Given the description of an element on the screen output the (x, y) to click on. 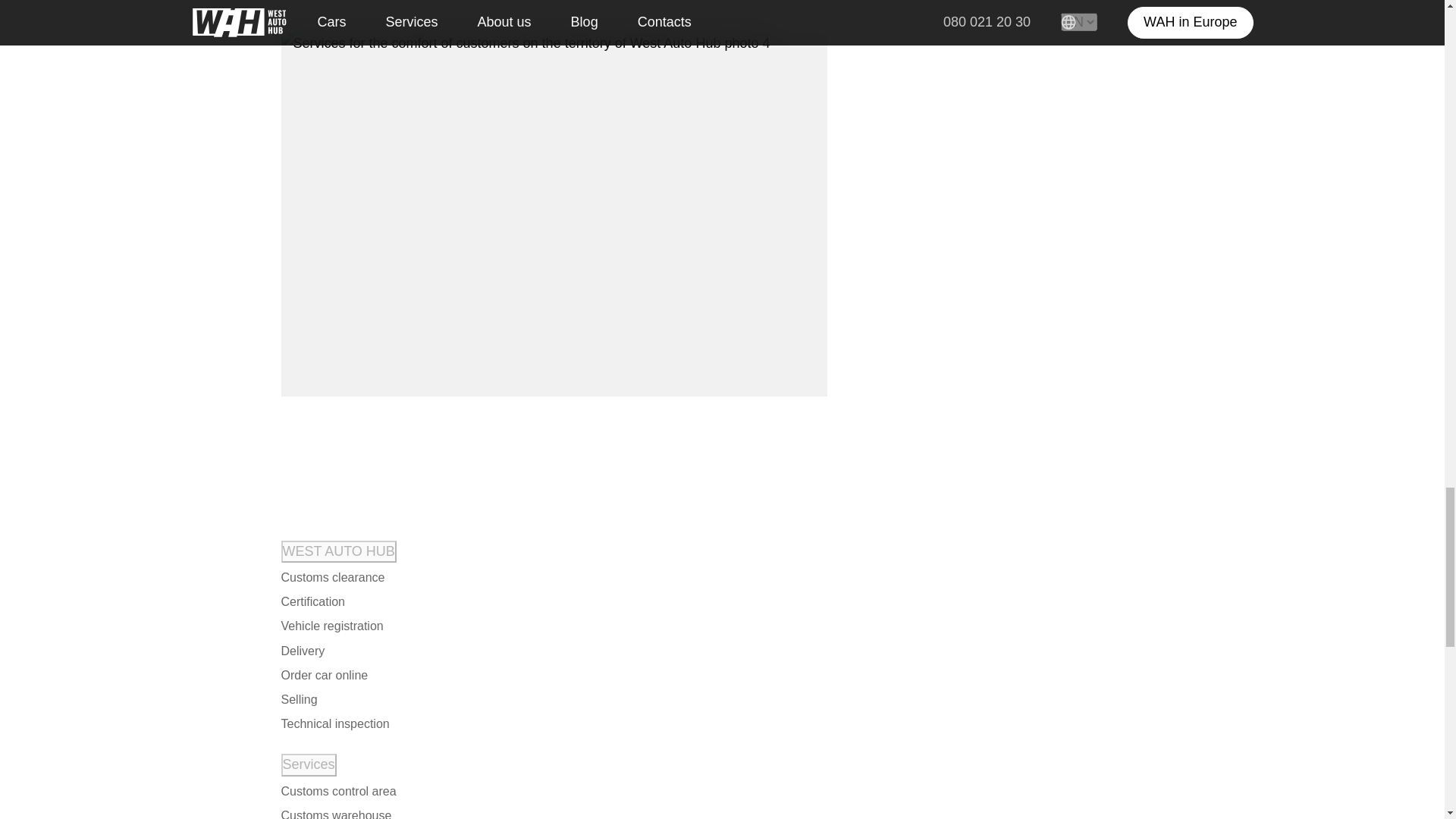
Delivery (303, 650)
Selling (299, 699)
Customs clearance (333, 577)
Technical inspection (335, 723)
Customs warehouse (337, 811)
WEST AUTO HUB (338, 551)
Vehicle registration (332, 626)
Customs control area (339, 791)
Services (308, 764)
Order car online (325, 675)
Certification (313, 601)
